Given the description of an element on the screen output the (x, y) to click on. 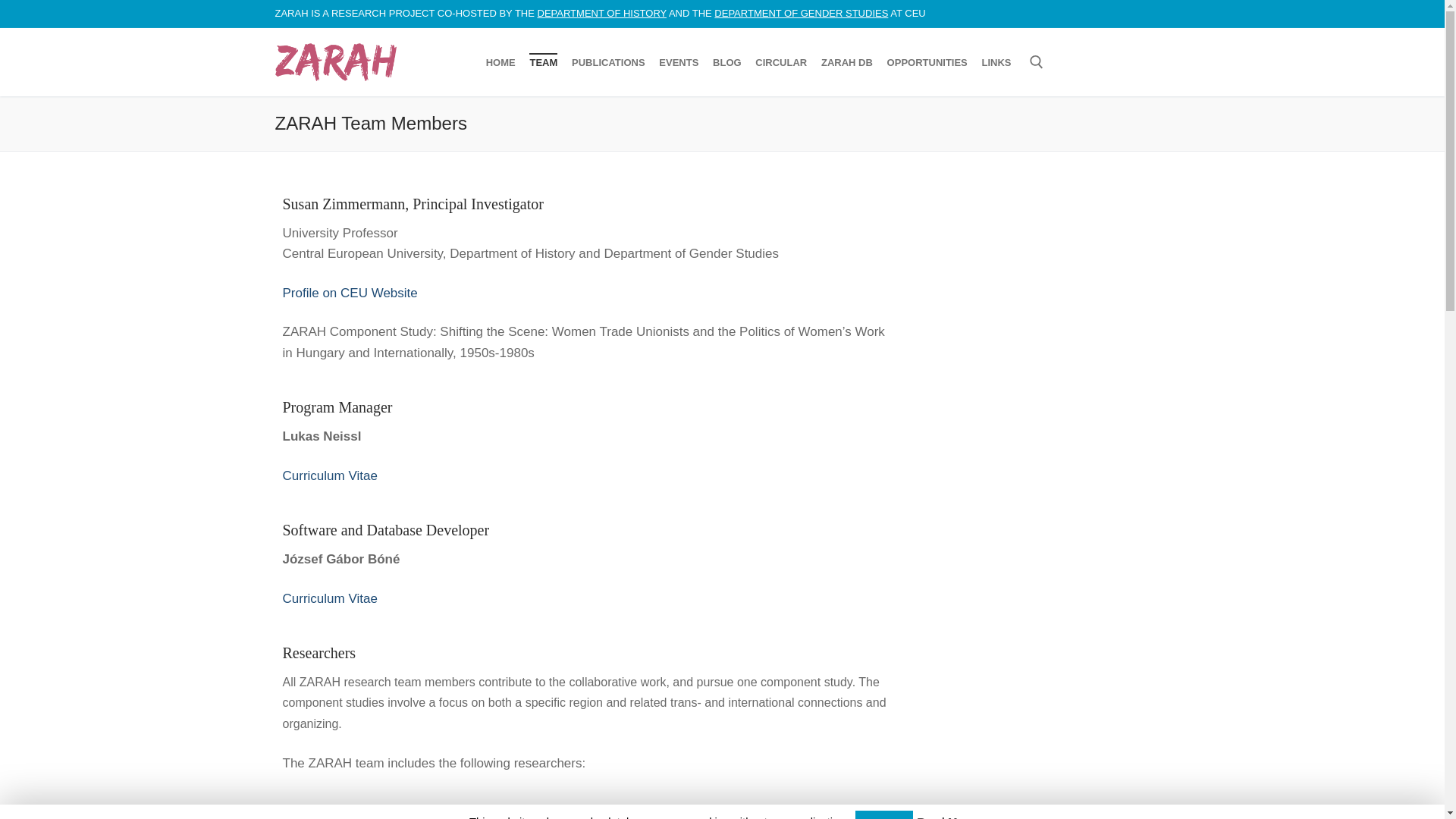
Curriculum Vitae (329, 607)
PUBLICATIONS (608, 62)
BLOG (726, 62)
CIRCULAR (780, 62)
DEPARTMENT OF HISTORY (601, 12)
HOME (500, 62)
OPPORTUNITIES (927, 62)
EVENTS (678, 62)
TEAM (543, 62)
Profile on CEU Website (349, 310)
Curriculum Vitae (329, 485)
DEPARTMENT OF GENDER STUDIES (801, 12)
LINKS (996, 62)
ZARAH DB (846, 62)
